Given the description of an element on the screen output the (x, y) to click on. 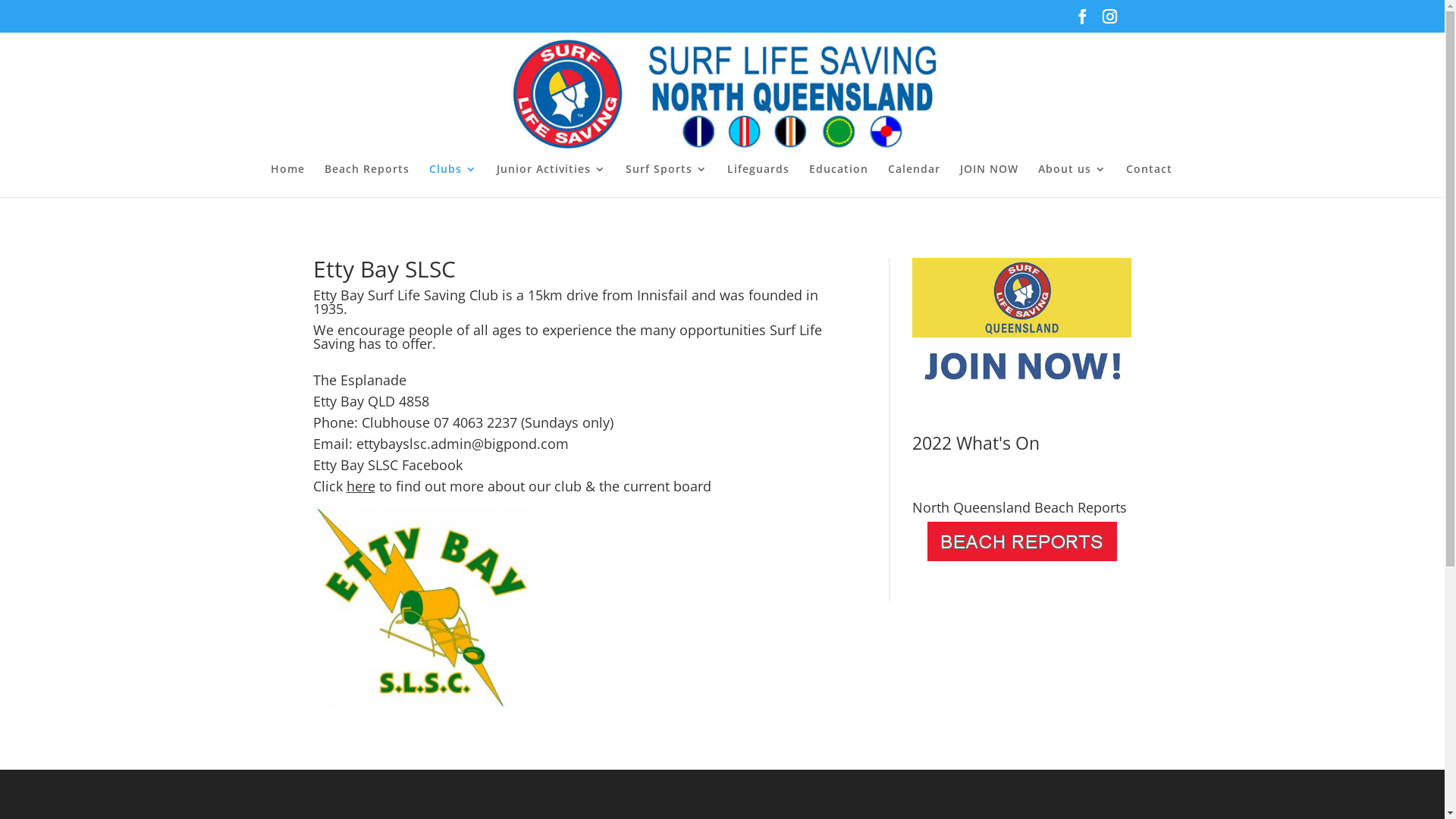
Clubs Element type: text (452, 180)
Lifeguards Element type: text (758, 180)
here Element type: text (359, 485)
Etty Bay SLSC Facebook Element type: text (386, 464)
JOIN NOW Element type: text (989, 180)
North Queensland Beach Reports Element type: hover (1021, 541)
Beach Reports Element type: text (366, 180)
Contact Element type: text (1149, 180)
Education Element type: text (838, 180)
Home Element type: text (287, 180)
Junior Activities Element type: text (550, 180)
About us Element type: text (1072, 180)
Calendar Element type: text (914, 180)
Surf Sports Element type: text (666, 180)
ettybayslsc.admin@bigpond.com Element type: text (462, 443)
